Given the description of an element on the screen output the (x, y) to click on. 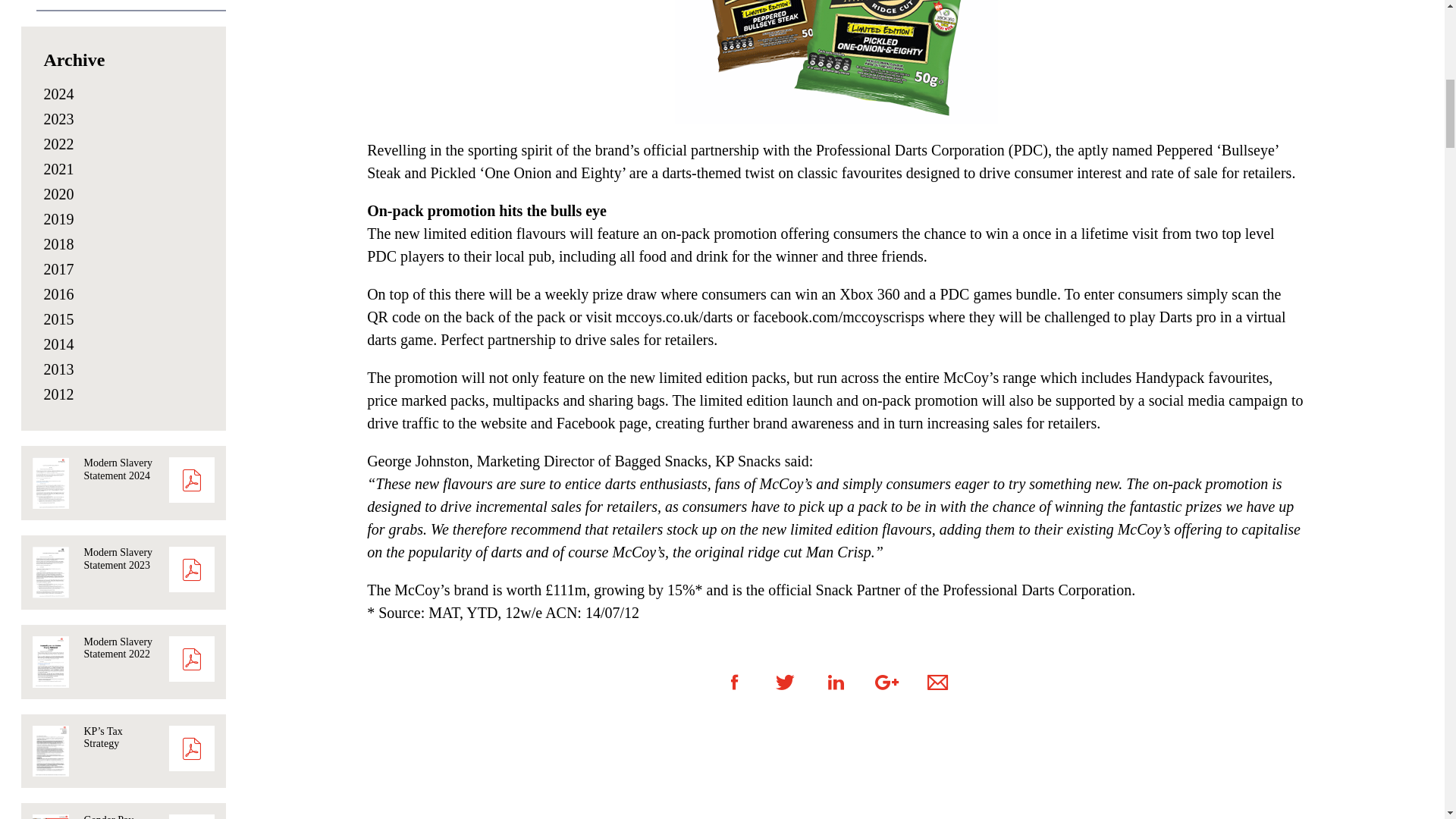
2022 (58, 143)
2012 (58, 393)
2020 (58, 193)
2017 (58, 269)
2023 (58, 118)
2016 (58, 293)
2013 (58, 369)
2021 (58, 168)
2014 (58, 343)
2018 (58, 243)
2024 (58, 93)
2015 (58, 319)
2019 (58, 218)
